Given the description of an element on the screen output the (x, y) to click on. 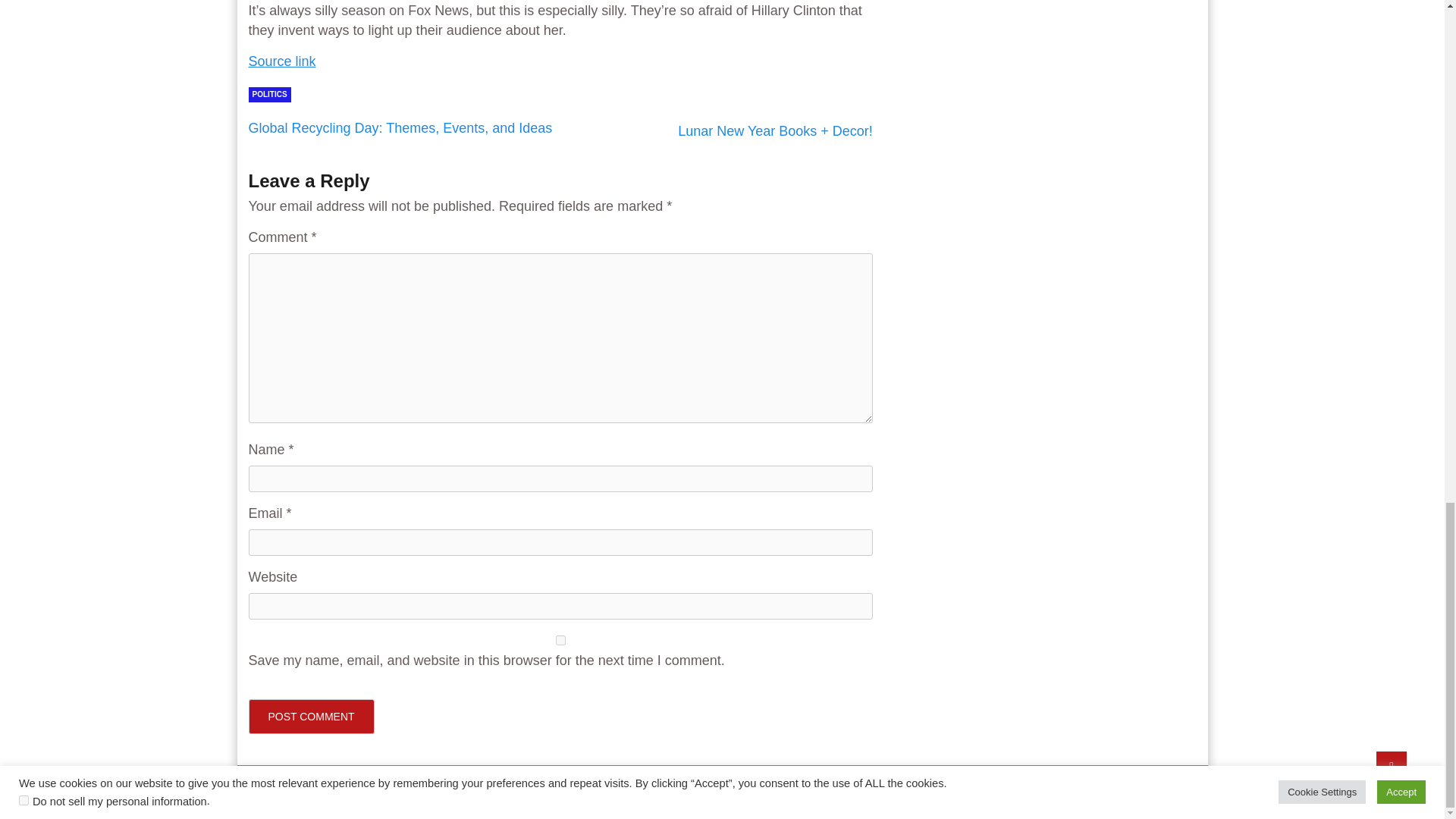
yes (560, 640)
Post Comment (311, 716)
